Given the description of an element on the screen output the (x, y) to click on. 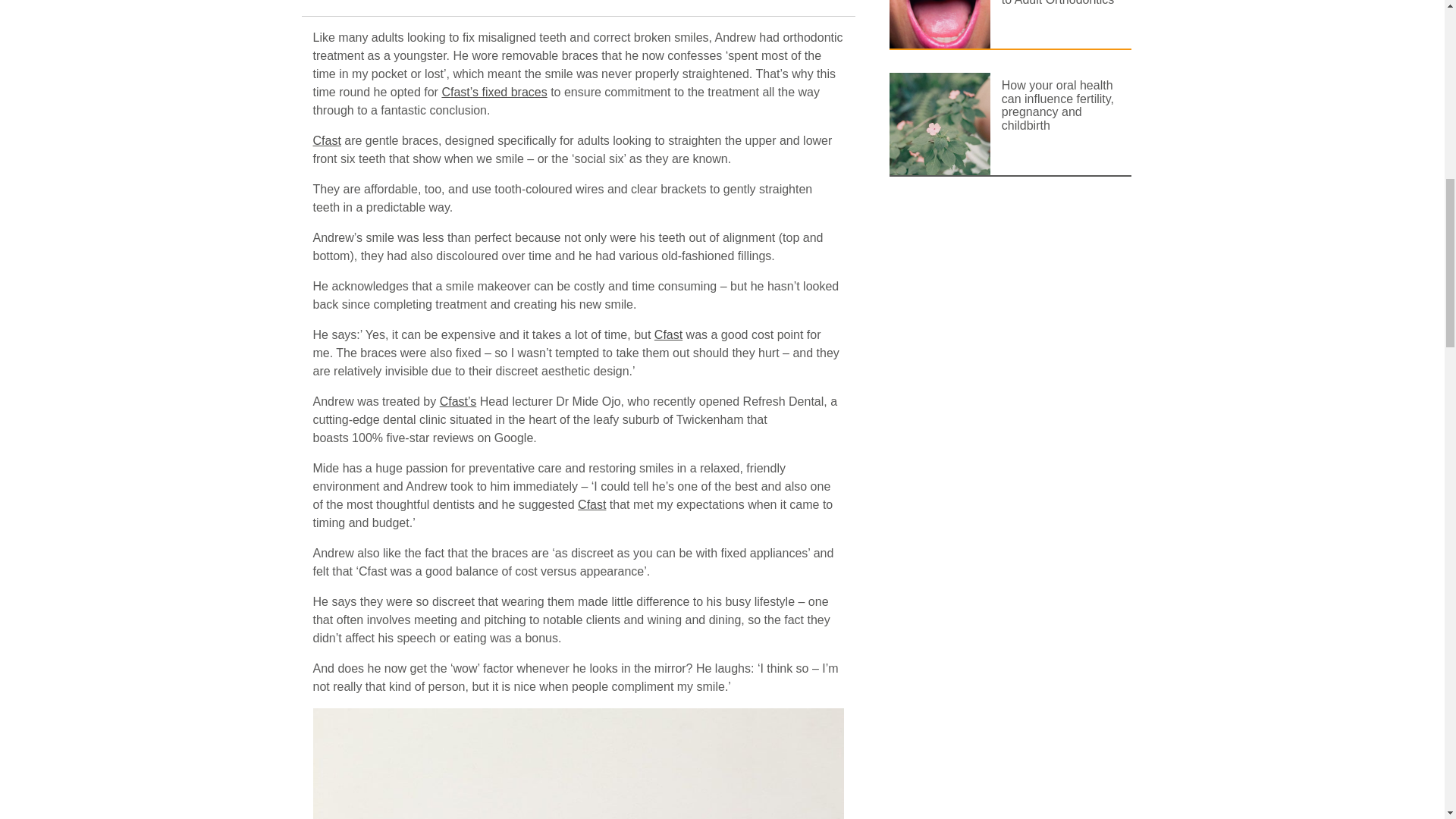
Cfast (591, 504)
Cfast (667, 334)
Cfast (326, 140)
The Complete Guide to Adult Orthodontics (1061, 6)
